Given the description of an element on the screen output the (x, y) to click on. 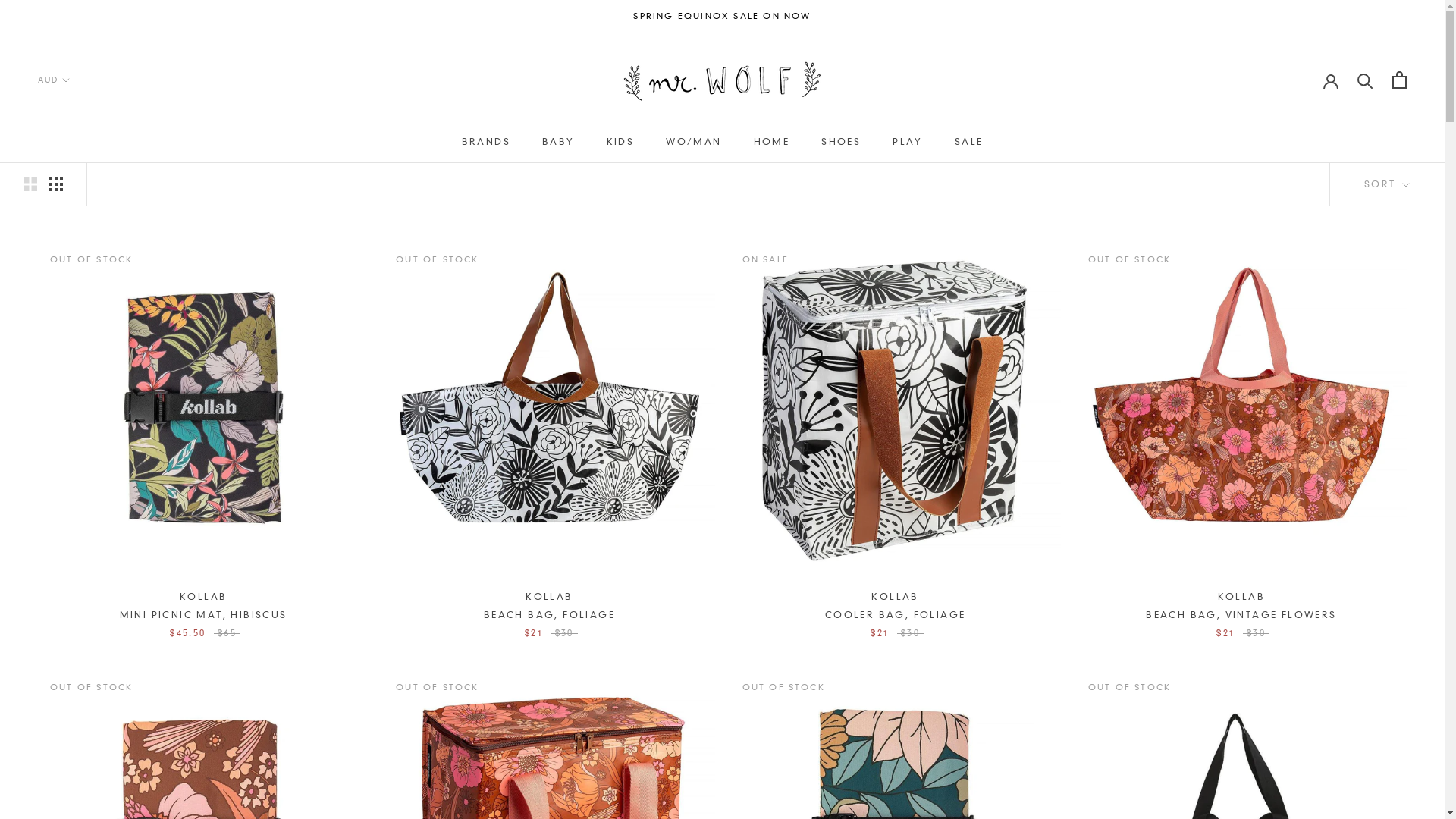
BEACH BAG, VINTAGE FLOWERS Element type: text (1240, 614)
HOME Element type: text (771, 141)
SHOES Element type: text (840, 141)
WO/MAN Element type: text (693, 141)
SORT Element type: text (1386, 184)
BABY Element type: text (558, 141)
BRANDS
BRANDS Element type: text (485, 141)
KIDS Element type: text (620, 141)
PLAY Element type: text (907, 141)
COOLER BAG, FOLIAGE Element type: text (895, 614)
BEACH BAG, FOLIAGE Element type: text (549, 614)
SALE Element type: text (968, 141)
MINI PICNIC MAT, HIBISCUS Element type: text (203, 614)
